Given the description of an element on the screen output the (x, y) to click on. 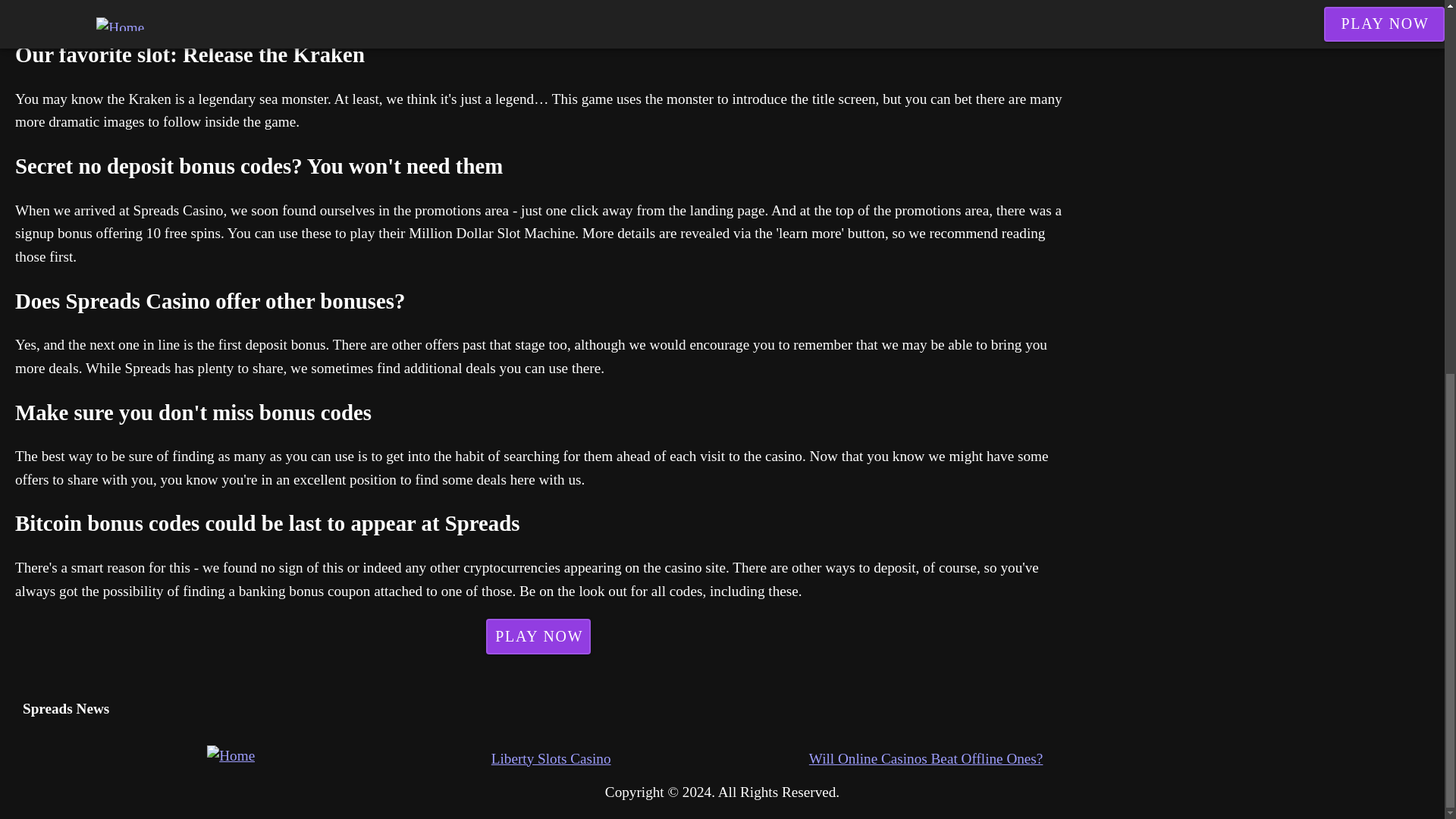
PLAY NOW (76, 16)
Will Online Casinos Beat Offline Ones? (967, 759)
Liberty Slots Casino (650, 759)
PLAY NOW (538, 636)
